Given the description of an element on the screen output the (x, y) to click on. 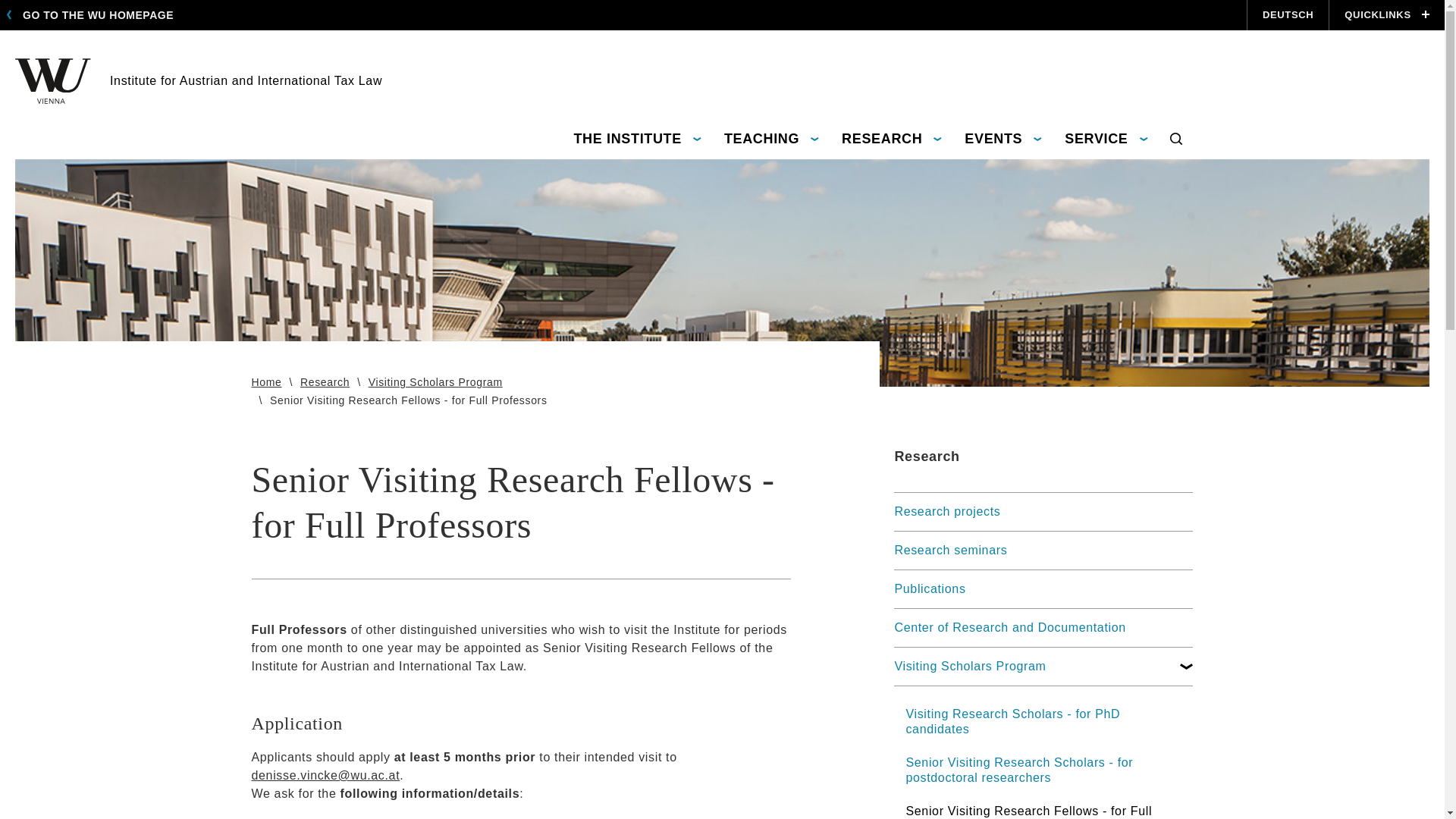
THE INSTITUTE (197, 81)
X (636, 140)
YouTube (1155, 4)
Facebook (1129, 4)
Search (1049, 4)
GO TO THE WU HOMEPAGE (1175, 140)
X (94, 15)
Instagram (1155, 4)
Newsletter (1075, 4)
